Given the description of an element on the screen output the (x, y) to click on. 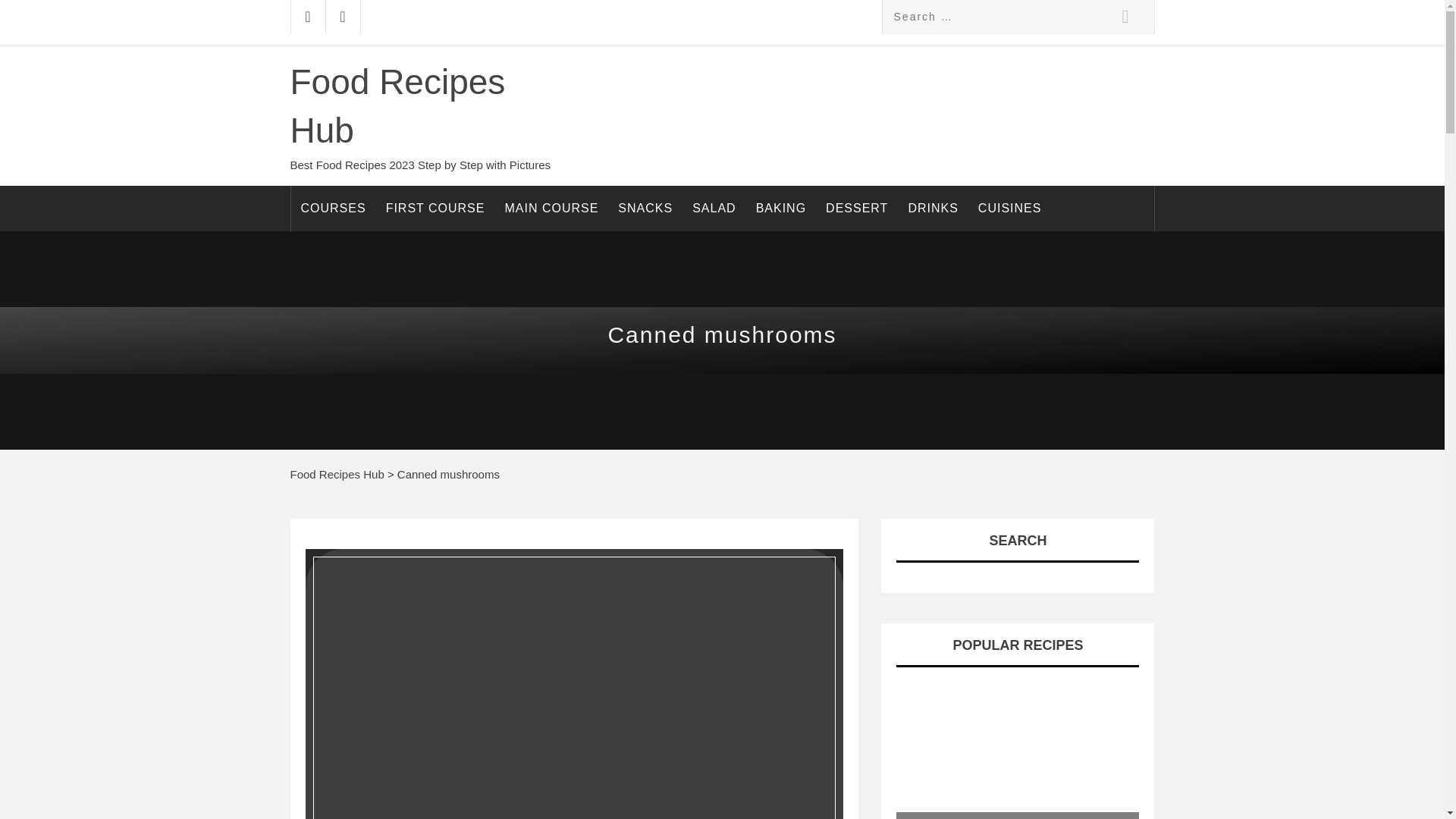
Go to Food Recipes Hub. (336, 473)
Search (1124, 17)
Search (1124, 17)
Food Recipes Hub (397, 105)
COURSES (333, 207)
MAIN COURSE (551, 207)
FIRST COURSE (435, 207)
Search (1124, 17)
